Given the description of an element on the screen output the (x, y) to click on. 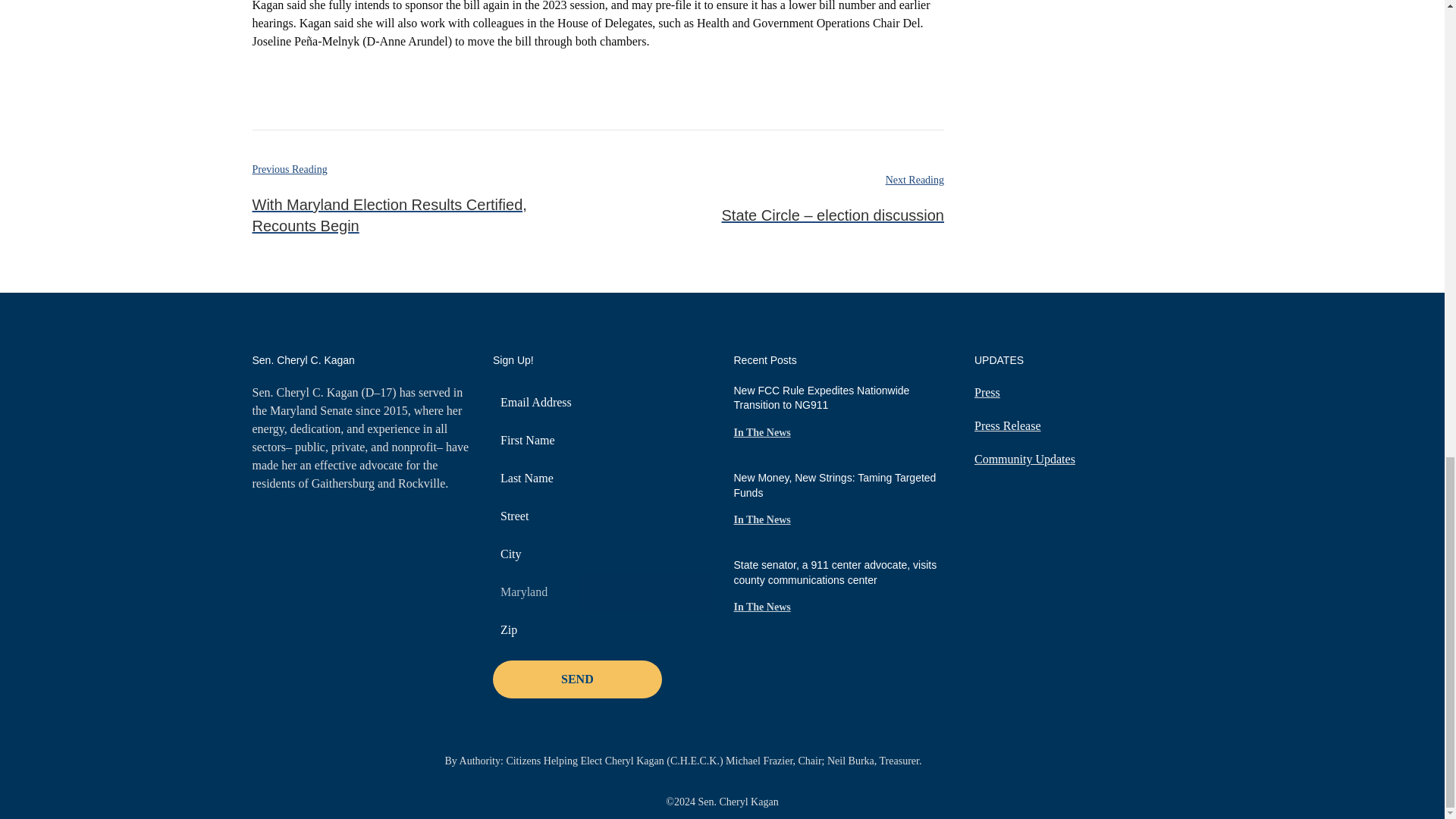
New FCC Rule Expedites Nationwide Transition to NG911 (821, 397)
New Money, New Strings: Taming Targeted Funds (834, 484)
Send (577, 679)
